Given the description of an element on the screen output the (x, y) to click on. 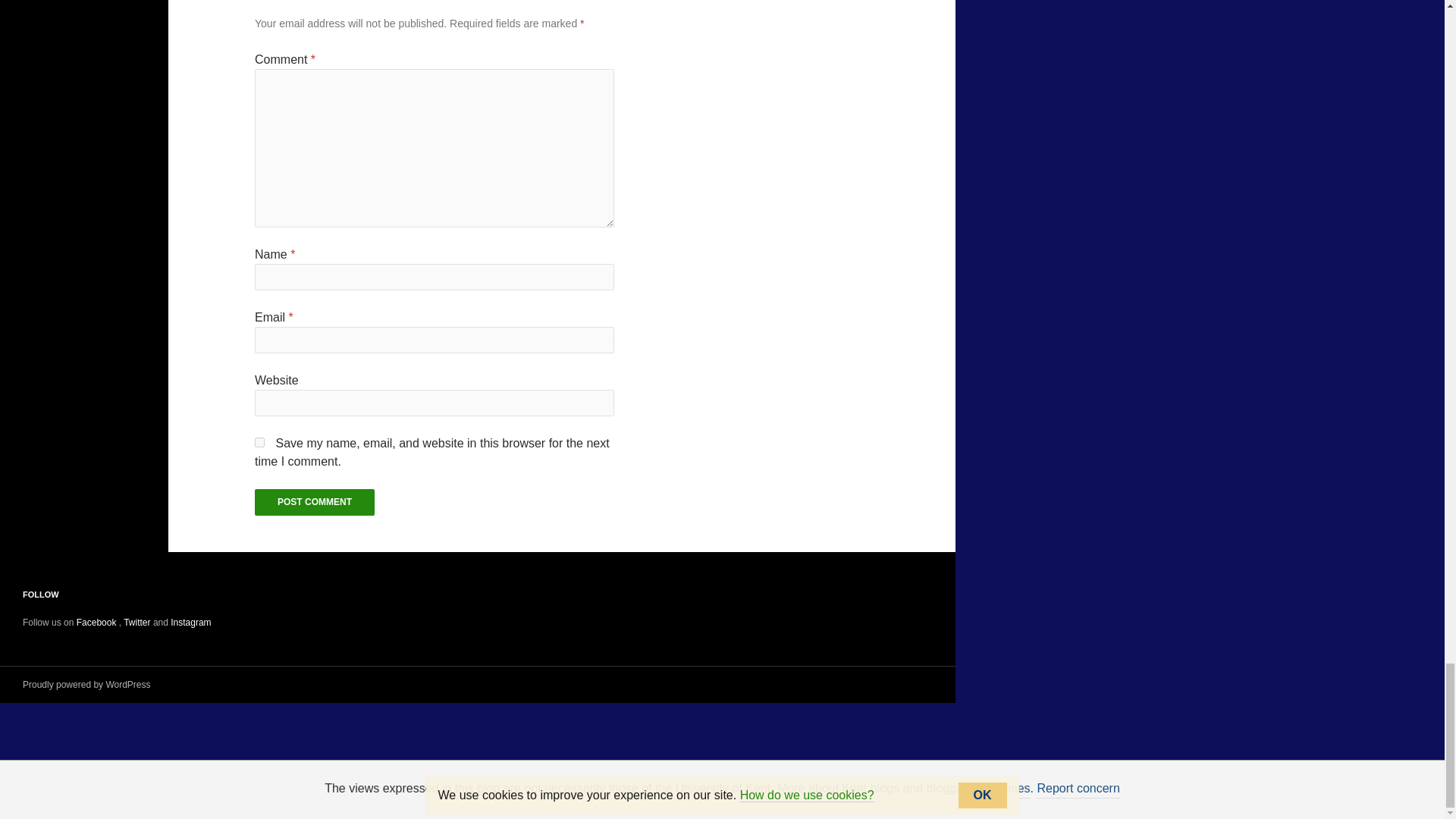
yes (259, 442)
Post Comment (314, 501)
Post Comment (314, 501)
